Given the description of an element on the screen output the (x, y) to click on. 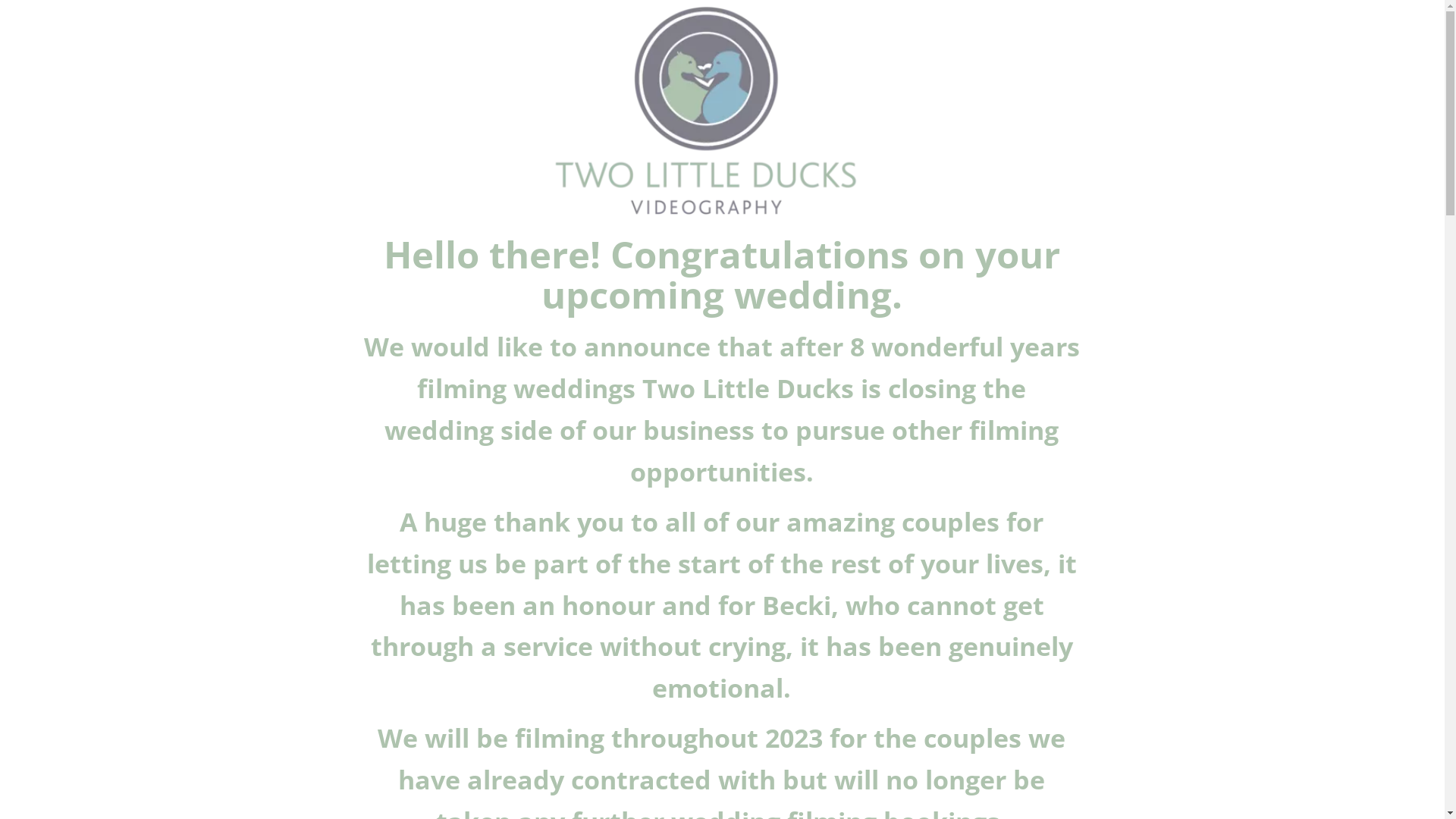
2 Little Ducks Logo Element type: hover (707, 110)
